Given the description of an element on the screen output the (x, y) to click on. 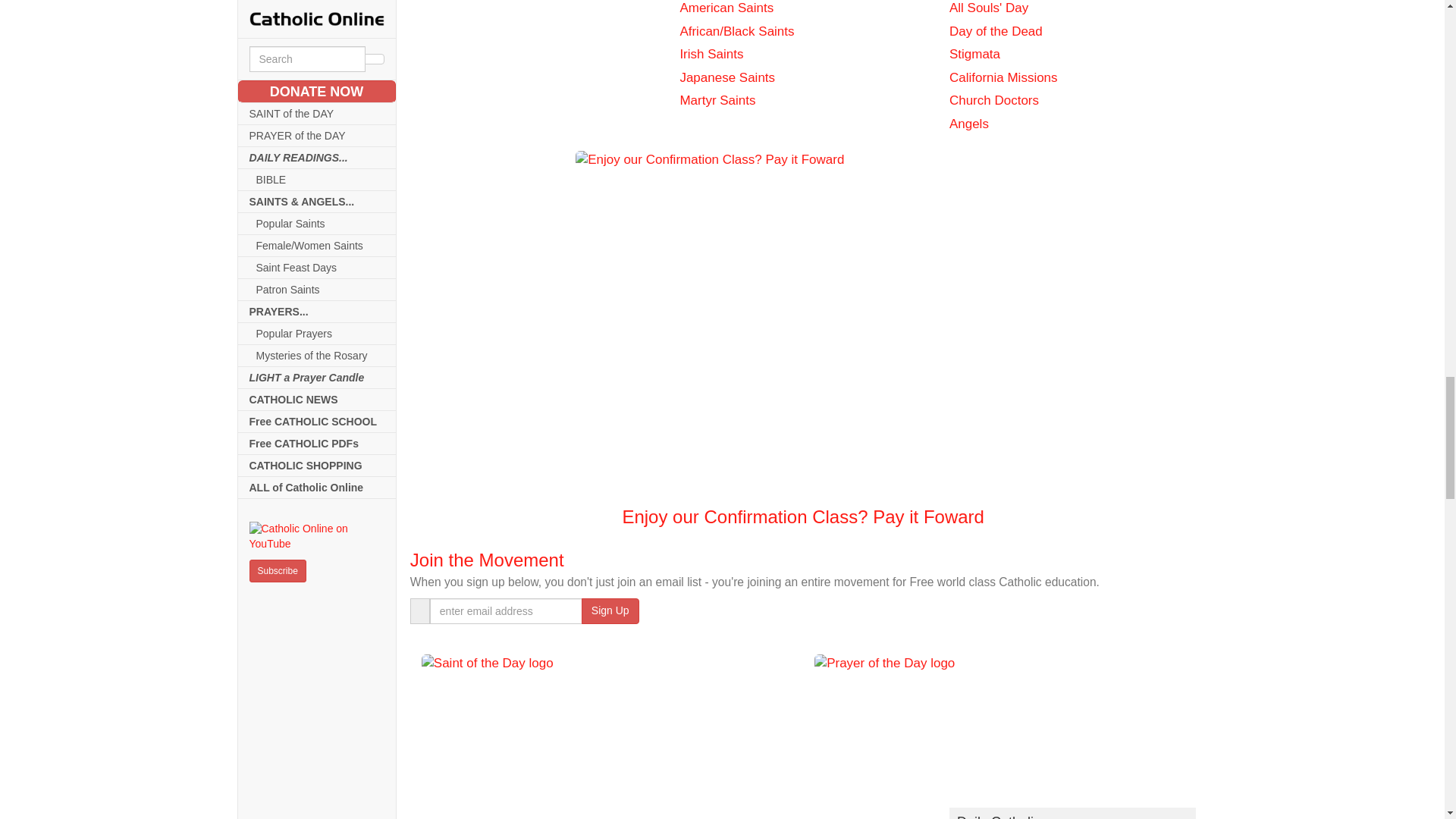
Sign Up (609, 611)
